Given the description of an element on the screen output the (x, y) to click on. 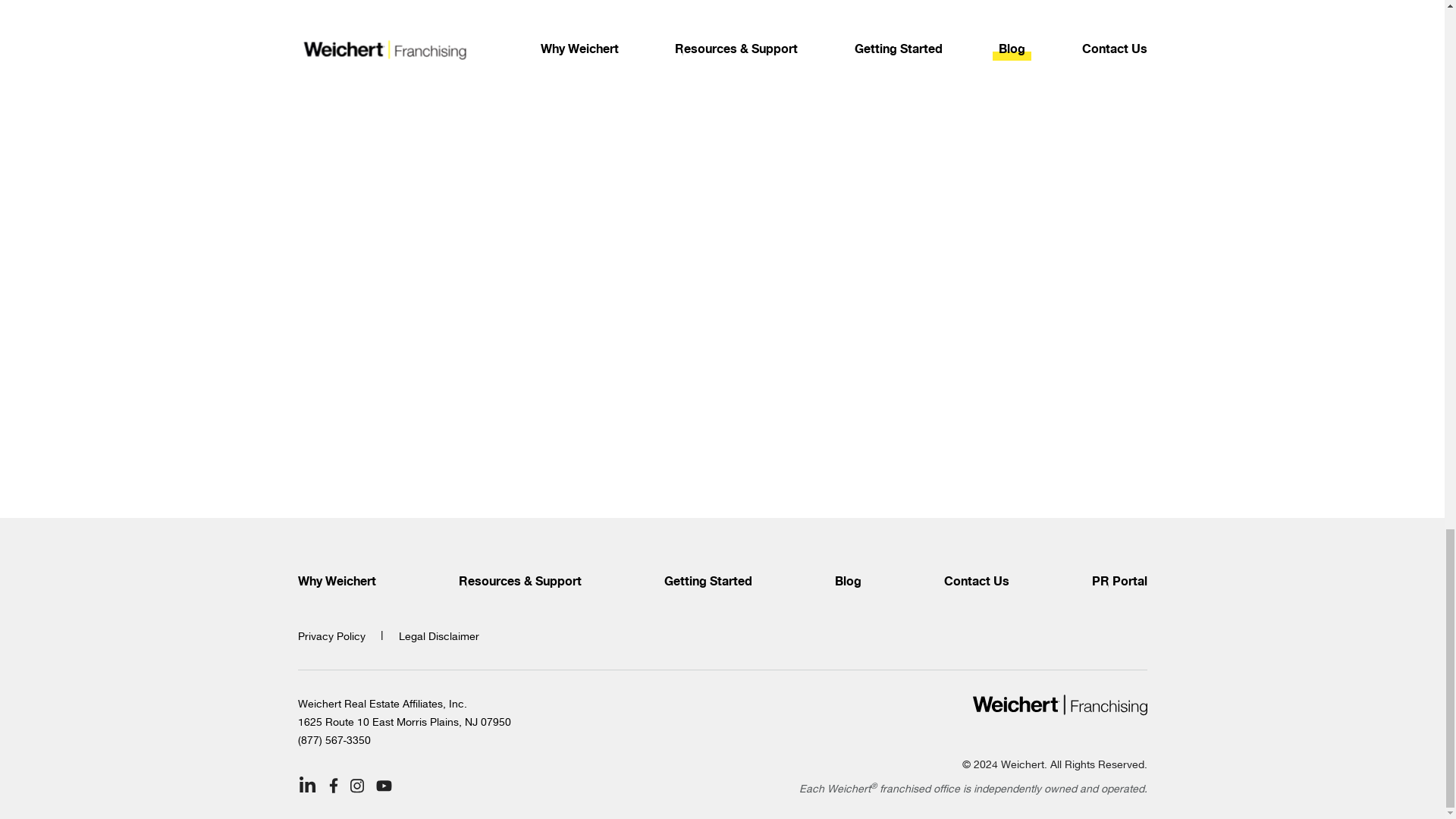
Legal Disclaimer (438, 635)
Getting Started (707, 581)
Contact Us (976, 581)
Blog (847, 581)
PR Portal (1119, 581)
Why Weichert (336, 581)
Privacy Policy (331, 635)
